Given the description of an element on the screen output the (x, y) to click on. 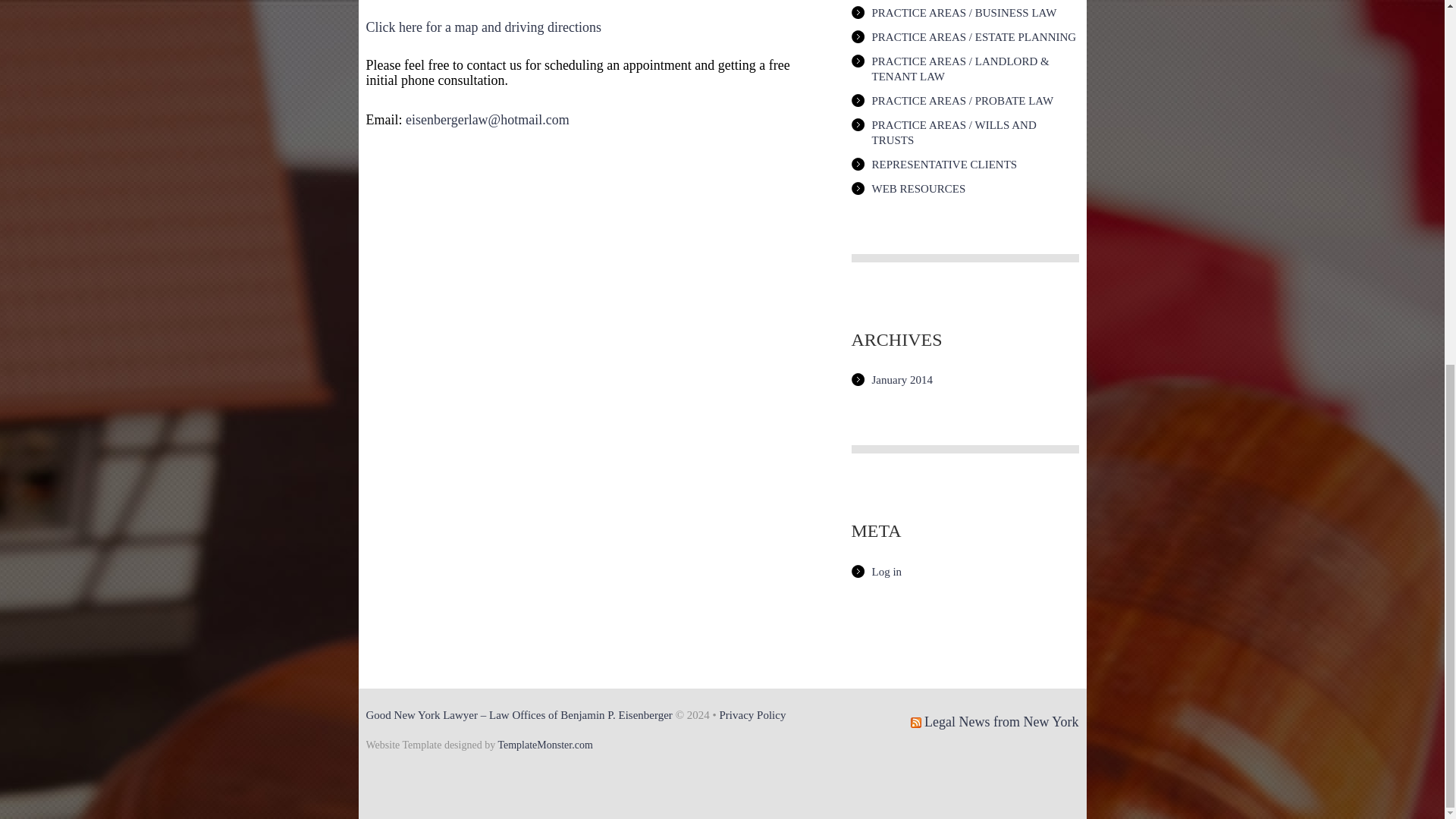
Landlord Tenant Law, Real Estate Law, Wills and Trusts (518, 715)
Click here for a map and driving directions (482, 27)
Click here for a map and driving directions (482, 27)
TemplateMonster.com (544, 745)
